Given the description of an element on the screen output the (x, y) to click on. 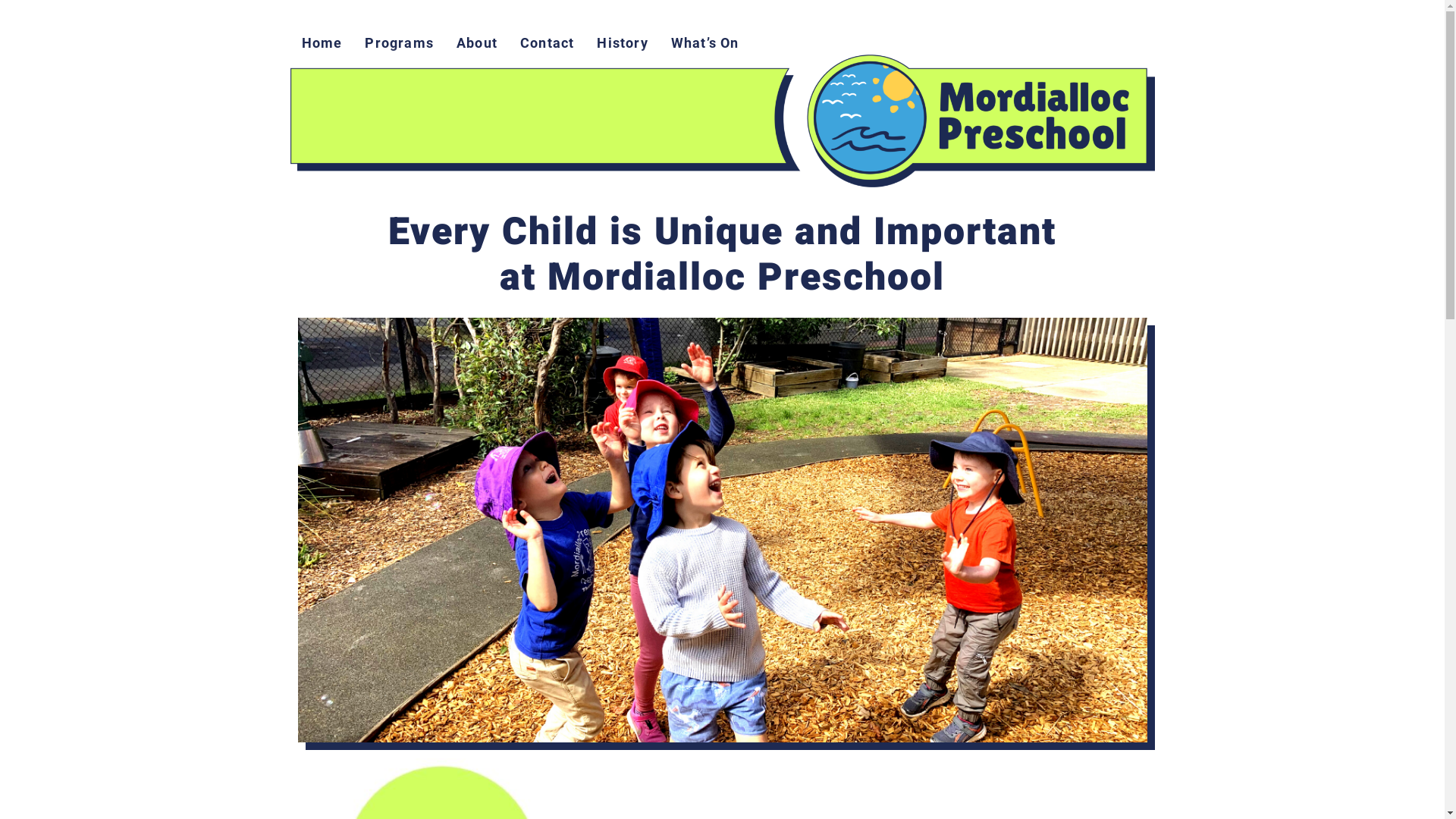
Programs Element type: text (399, 43)
History Element type: text (621, 43)
Home Element type: text (321, 43)
About Element type: text (476, 43)
Contact Element type: text (546, 43)
